Given the description of an element on the screen output the (x, y) to click on. 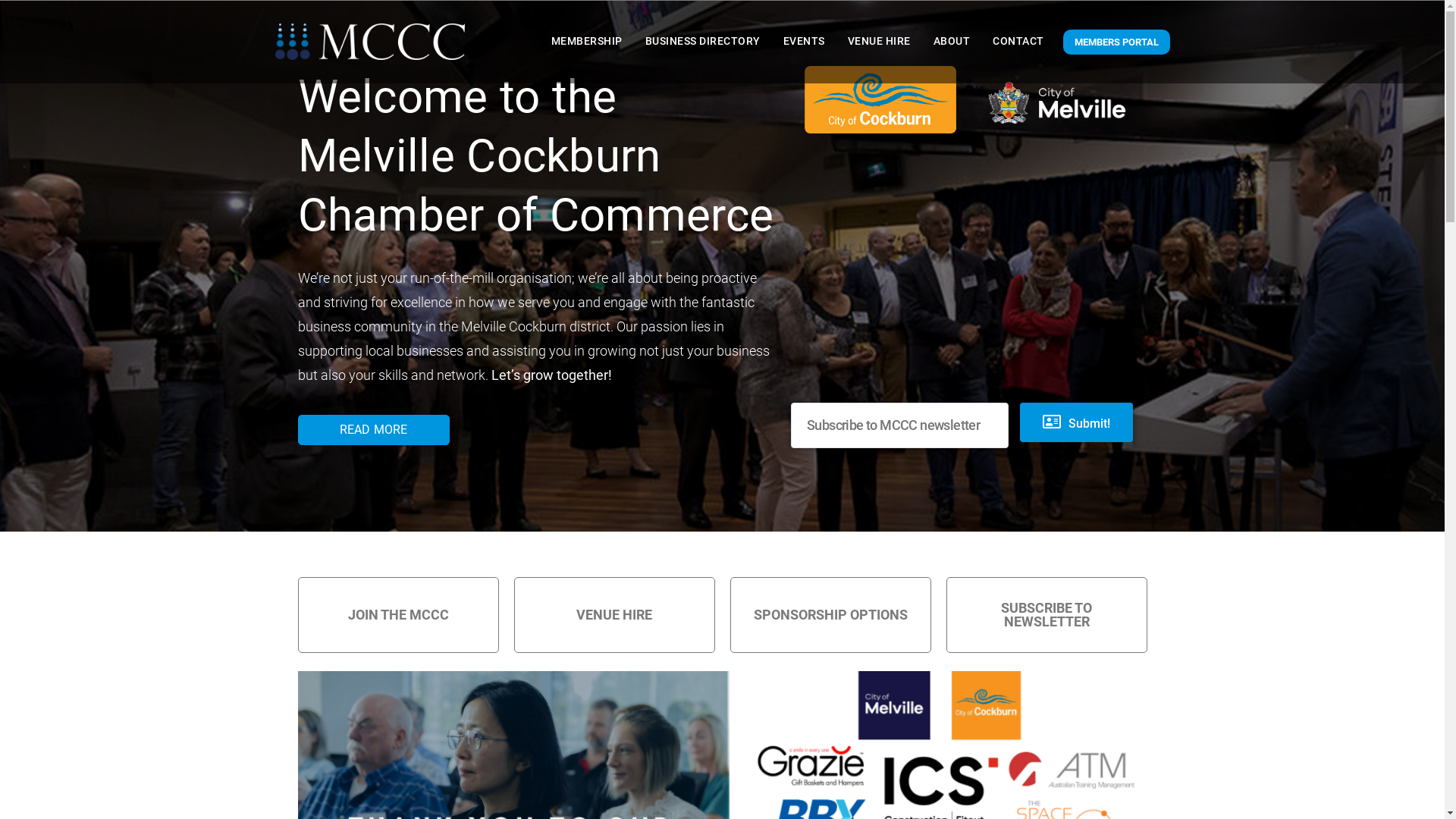
BUSINESS DIRECTORY Element type: text (702, 41)
VENUE HIRE Element type: text (878, 41)
ABOUT Element type: text (951, 41)
MEMBERSHIP Element type: text (586, 41)
JOIN THE MCCC Element type: text (397, 614)
READ MORE Element type: text (372, 429)
CONTACT Element type: text (1018, 41)
EVENTS Element type: text (803, 41)
MEMBERS PORTAL Element type: text (1116, 41)
SPONSORSHIP OPTIONS Element type: text (829, 614)
VENUE HIRE Element type: text (614, 614)
Submit! Element type: text (1075, 422)
SUBSCRIBE TO NEWSLETTER Element type: text (1046, 614)
